Given the description of an element on the screen output the (x, y) to click on. 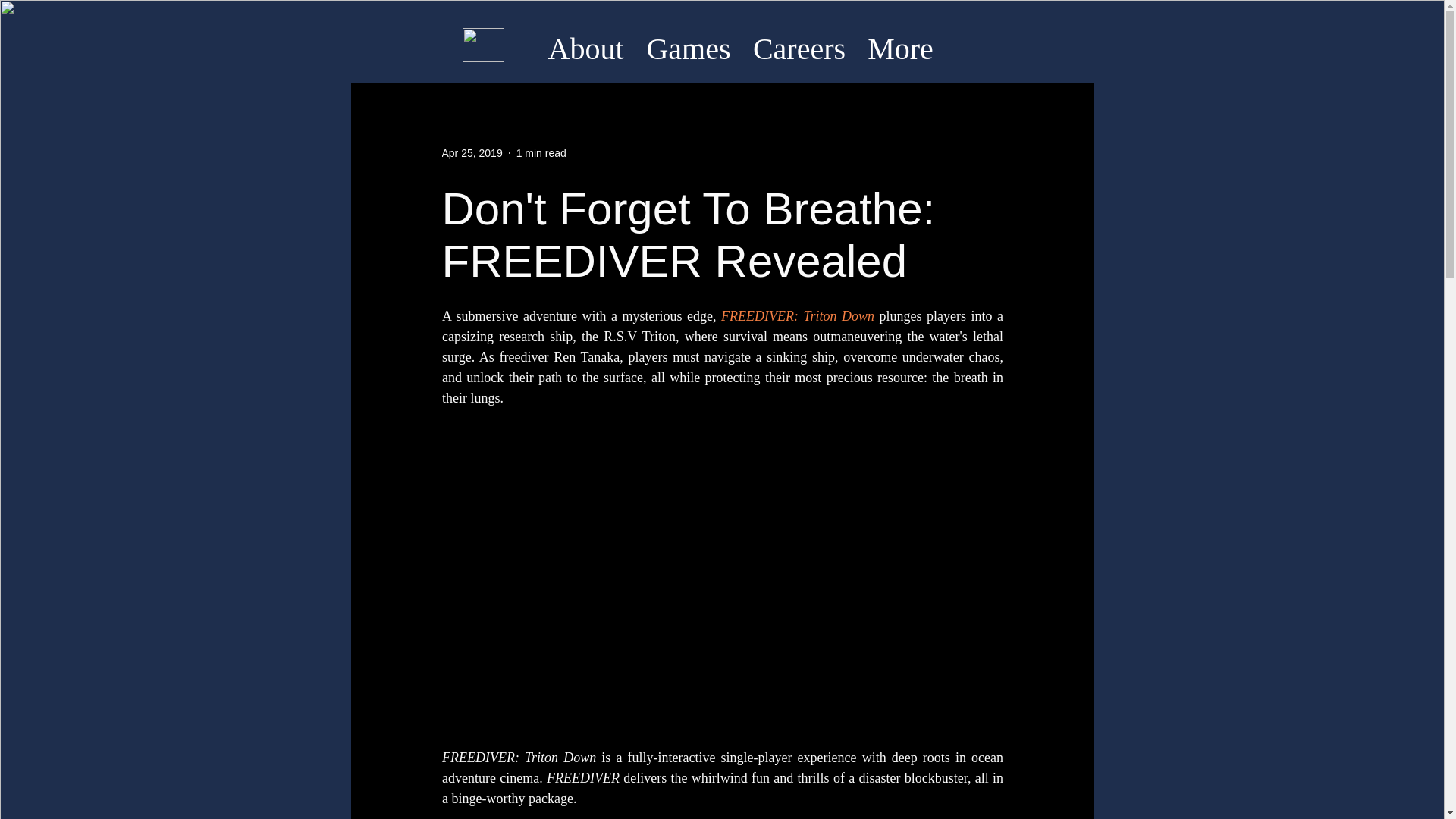
1 min read (541, 152)
Games (688, 46)
Apr 25, 2019 (471, 152)
Careers (798, 46)
About (585, 46)
FREEDIVER: Triton Down (796, 315)
